Given the description of an element on the screen output the (x, y) to click on. 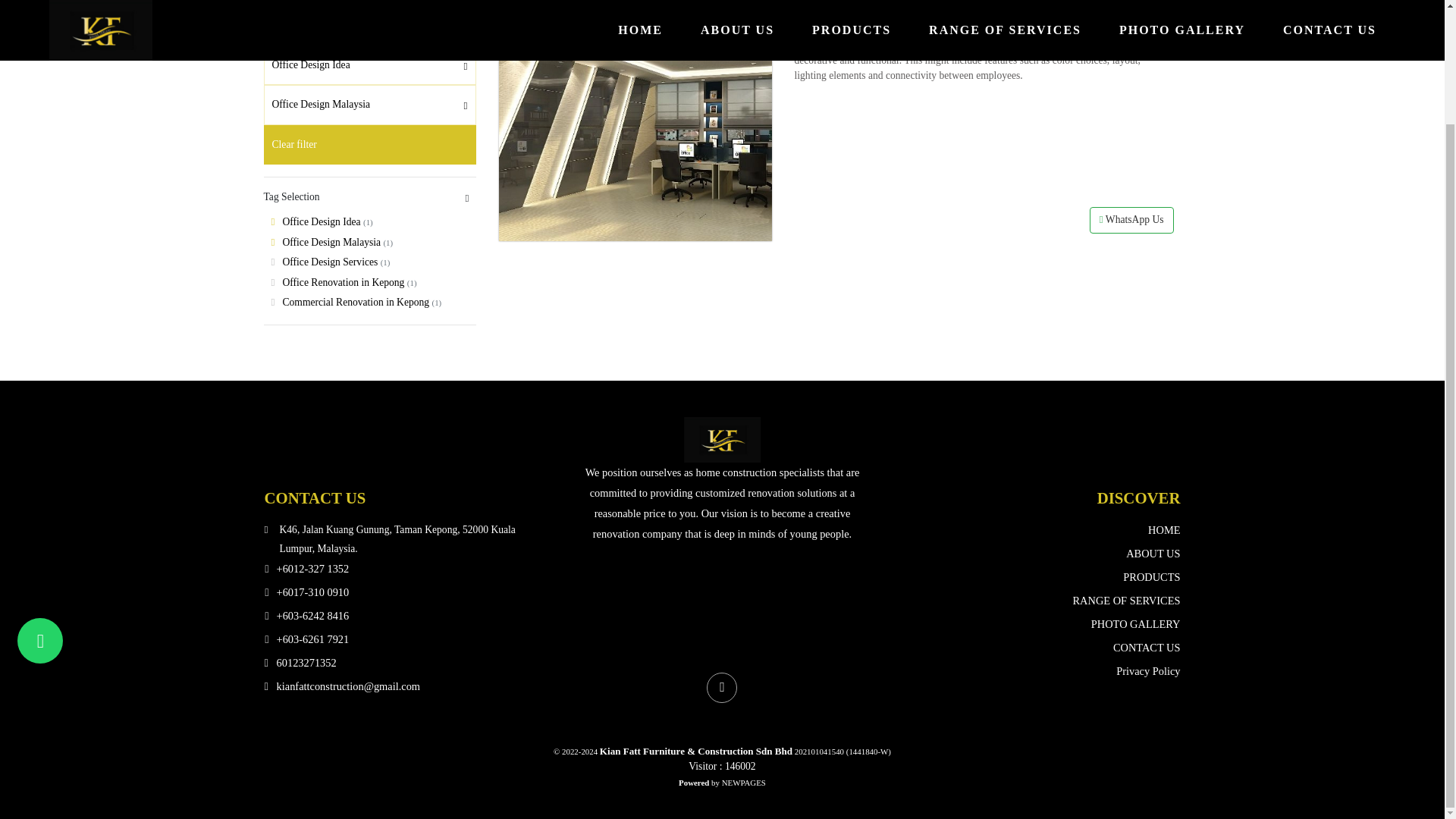
 WhatsApp Us (1131, 219)
Office Design Idea (369, 65)
Clear filter (369, 144)
Office Design (833, 23)
Office Design Malaysia (369, 104)
